Given the description of an element on the screen output the (x, y) to click on. 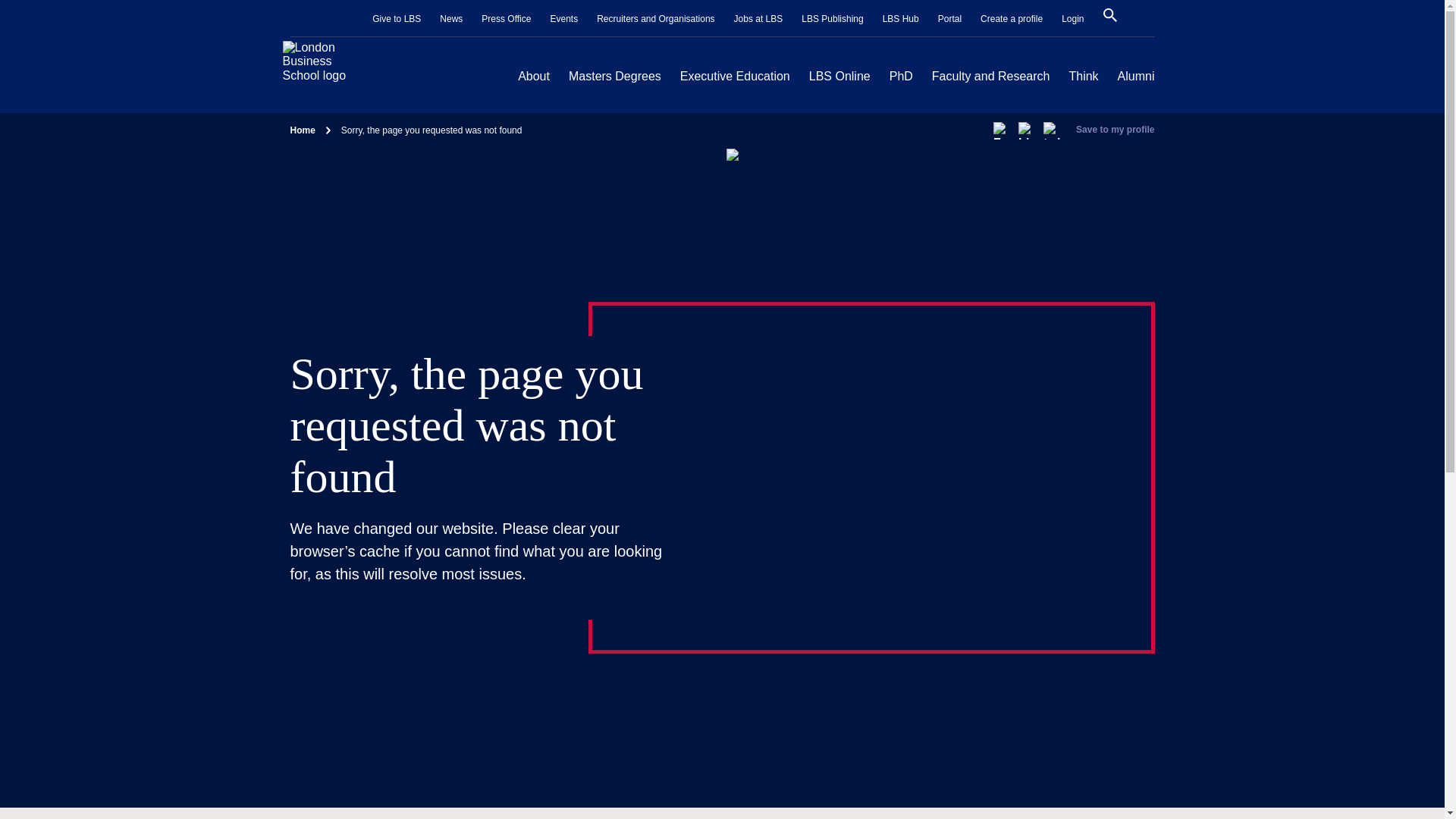
Recruiters and Organisations (655, 18)
PhD (900, 75)
Press Office (506, 18)
LBS Hub (900, 18)
You must log in before saving (1114, 130)
Jobs at LBS (758, 18)
Login (1072, 18)
Faculty and Research (990, 75)
Think (1082, 75)
News (451, 18)
